Given the description of an element on the screen output the (x, y) to click on. 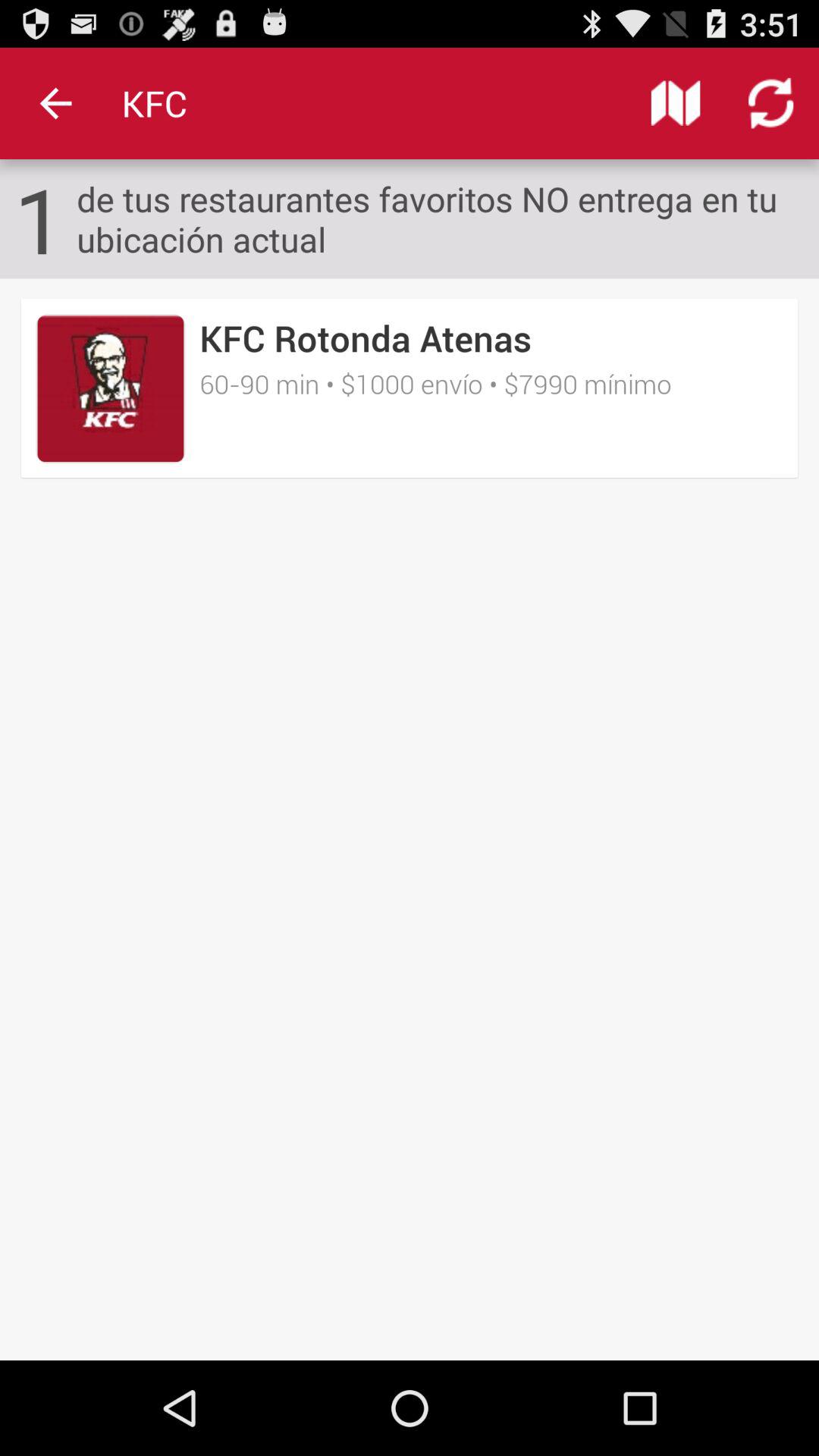
open item above 1 item (55, 103)
